Given the description of an element on the screen output the (x, y) to click on. 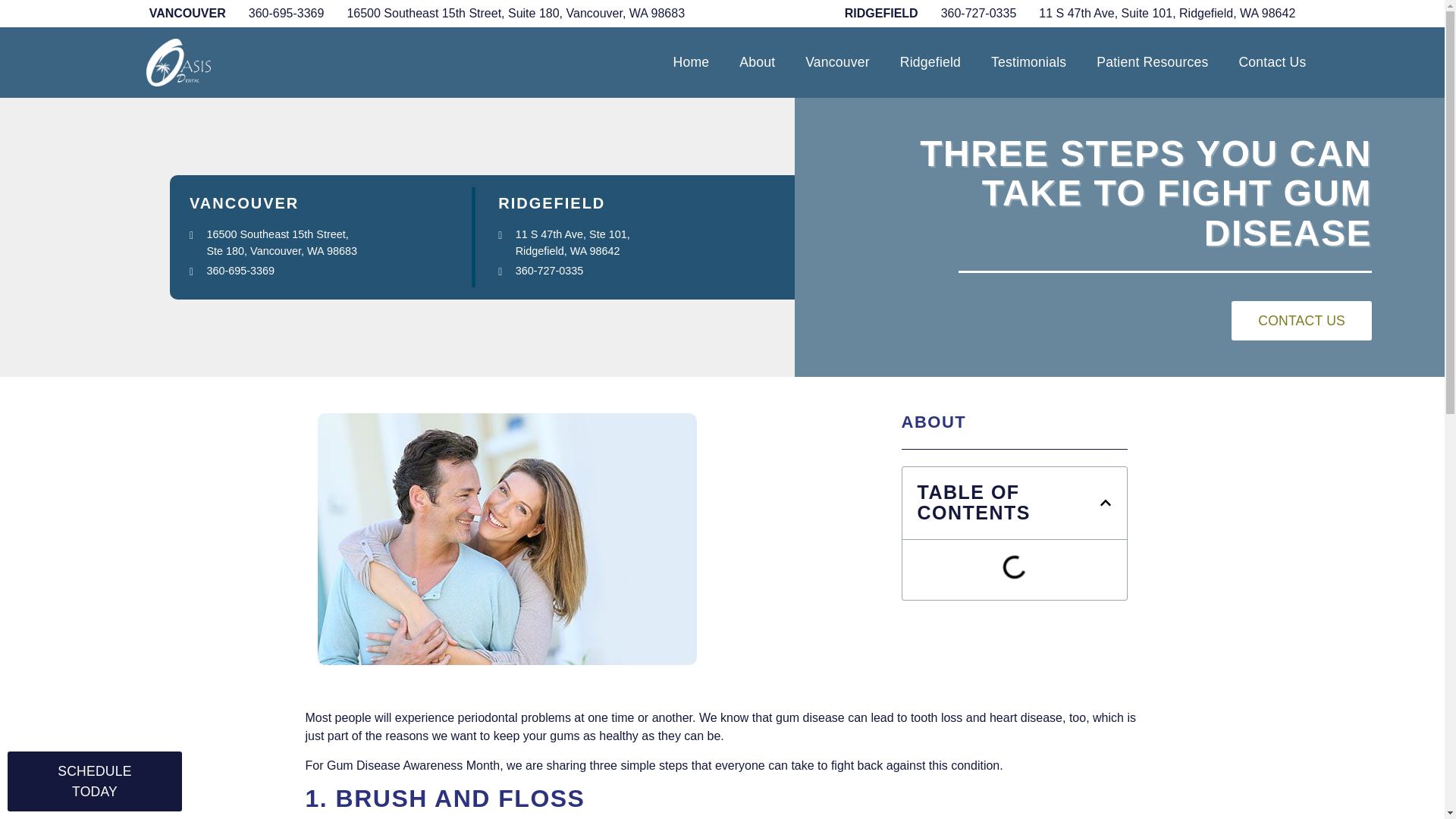
VANCOUVER (187, 13)
Contact Us (1271, 62)
360-695-3369 (274, 13)
Testimonials (1028, 62)
Ridgefield (930, 62)
Patient Resources (1152, 62)
16500 Southeast 15th Street, Suite 180, Vancouver, WA 98683 (503, 13)
360-727-0335 (967, 13)
Vancouver (837, 62)
About (756, 62)
11 S 47th Ave, Suite 101, Ridgefield, WA 98642 (1155, 13)
RIDGEFIELD (881, 13)
Home (691, 62)
